Given the description of an element on the screen output the (x, y) to click on. 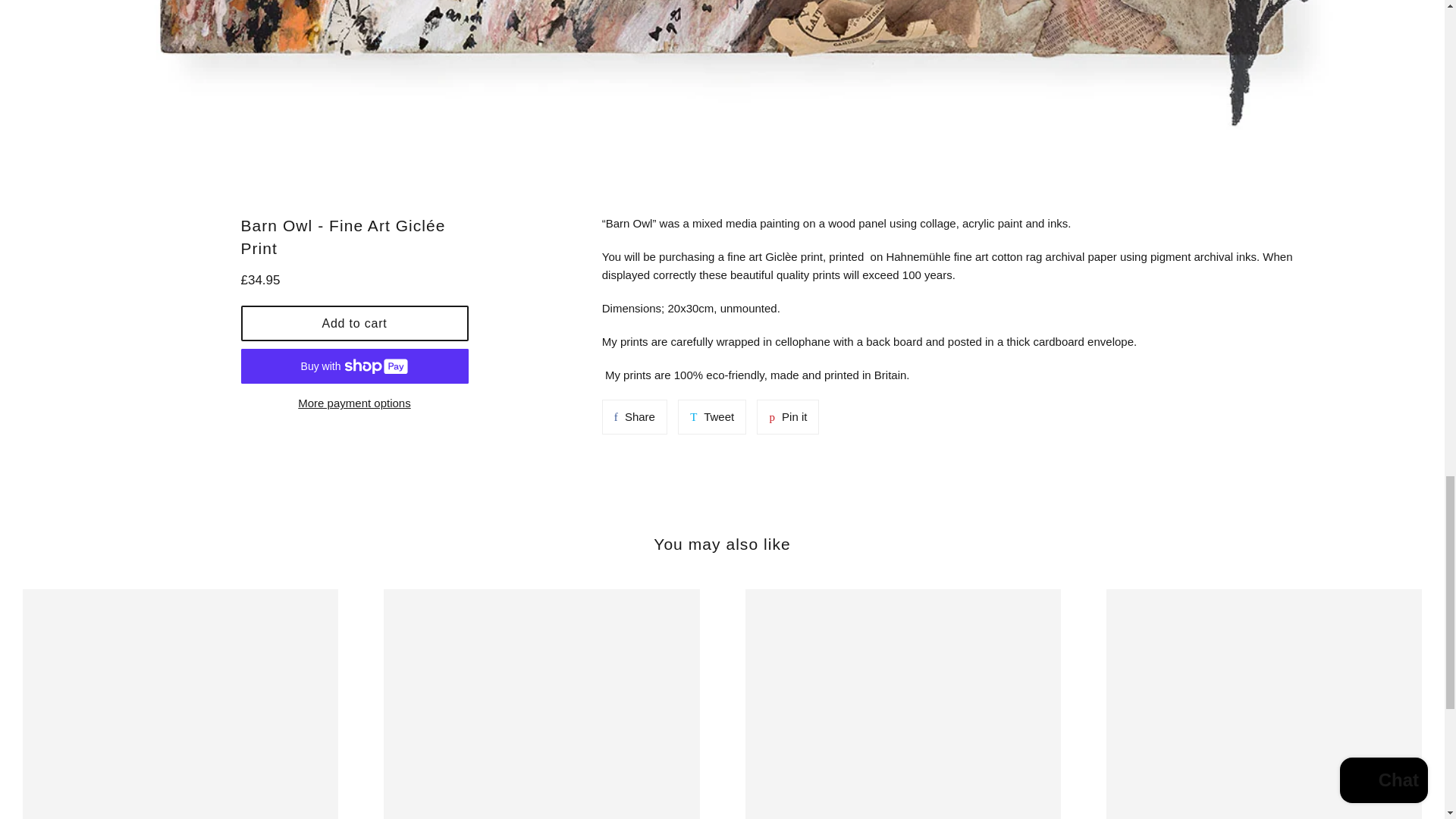
Tweet on Twitter (711, 416)
More payment options (634, 416)
Add to cart (711, 416)
Pin on Pinterest (354, 403)
Share on Facebook (354, 323)
